Given the description of an element on the screen output the (x, y) to click on. 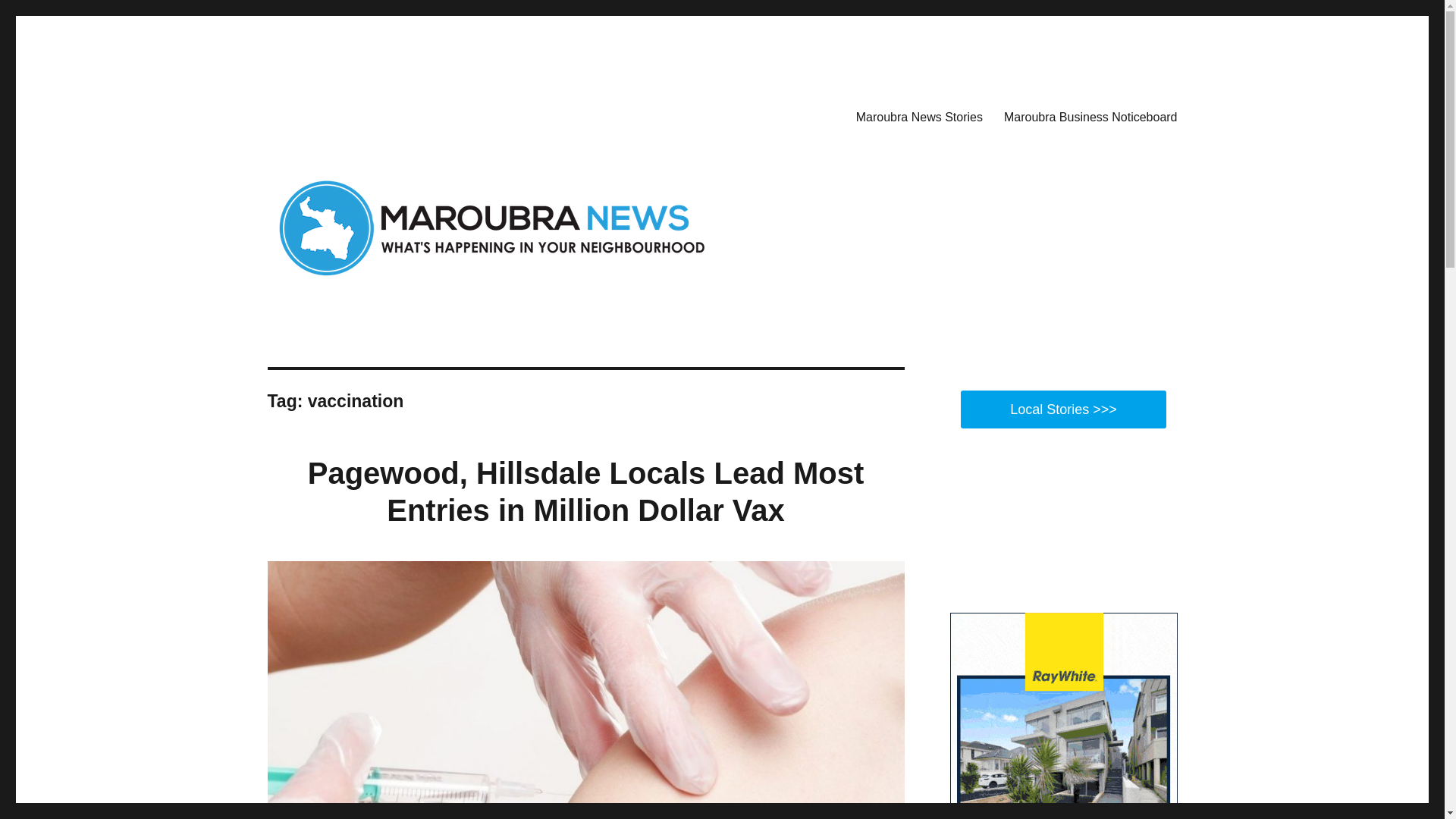
Maroubra News (345, 114)
Maroubra Business Noticeboard (1090, 116)
Maroubra News Stories (918, 116)
